Given the description of an element on the screen output the (x, y) to click on. 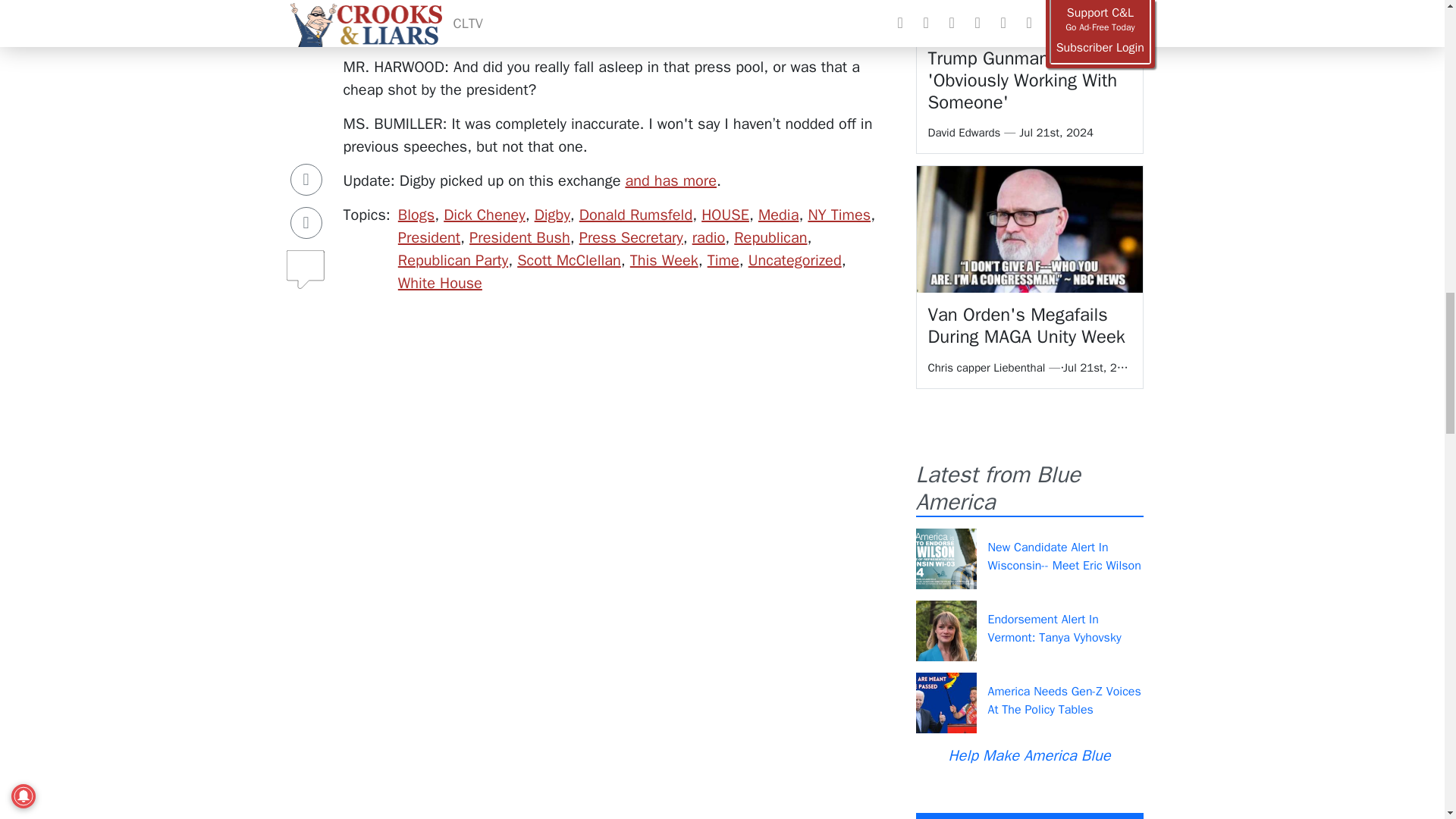
Dick Cheney (484, 214)
Blogs (415, 214)
Insticator Content Engagement Unit (415, 598)
and has more (670, 180)
Digby (552, 214)
